Given the description of an element on the screen output the (x, y) to click on. 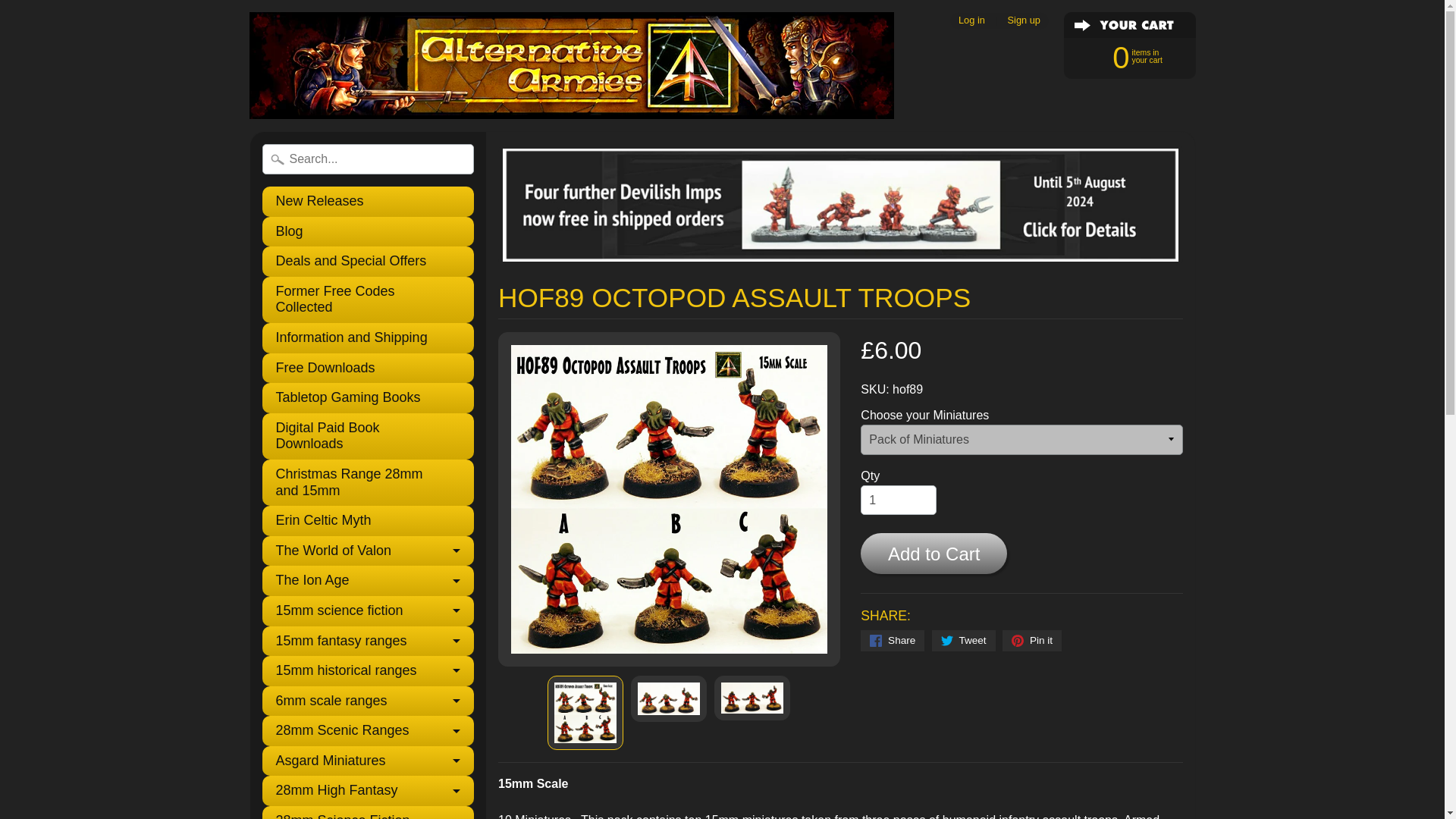
Log in (970, 20)
Digital Paid Book Downloads (368, 436)
Blog (368, 232)
Share on Facebook (892, 640)
Tweet on Twitter (963, 640)
New Releases (368, 201)
Free Downloads (368, 368)
HOF89 Octopod Assault Troops (752, 697)
Alternative Armies (570, 65)
Former Free Codes Collected (368, 299)
Erin Celtic Myth (368, 521)
Christmas Range 28mm and 15mm (368, 482)
Information and Shipping (368, 337)
HOF89 Octopod Assault Troops (668, 698)
The World of Valon (368, 551)
